Given the description of an element on the screen output the (x, y) to click on. 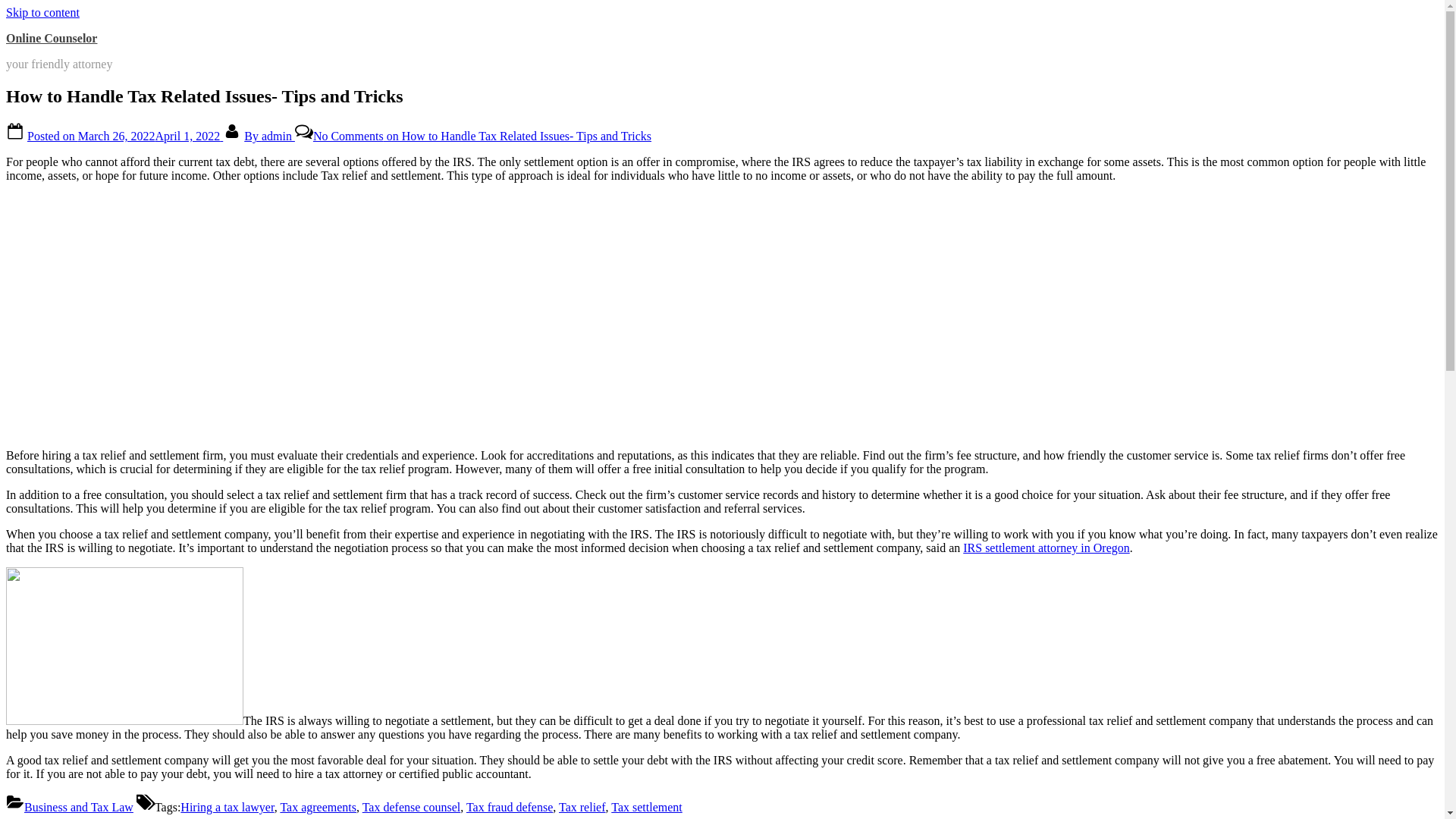
Posted on March 26, 2022April 1, 2022 (124, 135)
Tax defense counsel (411, 807)
Tax agreements (317, 807)
Tax relief (582, 807)
Tax settlement (646, 807)
Skip to content (42, 11)
Tax fraud defense (509, 807)
Business and Tax Law (78, 807)
YouTube video player (217, 314)
IRS settlement attorney in Oregon (1045, 547)
By admin (269, 135)
Online Counselor (51, 38)
Hiring a tax lawyer (226, 807)
